Given the description of an element on the screen output the (x, y) to click on. 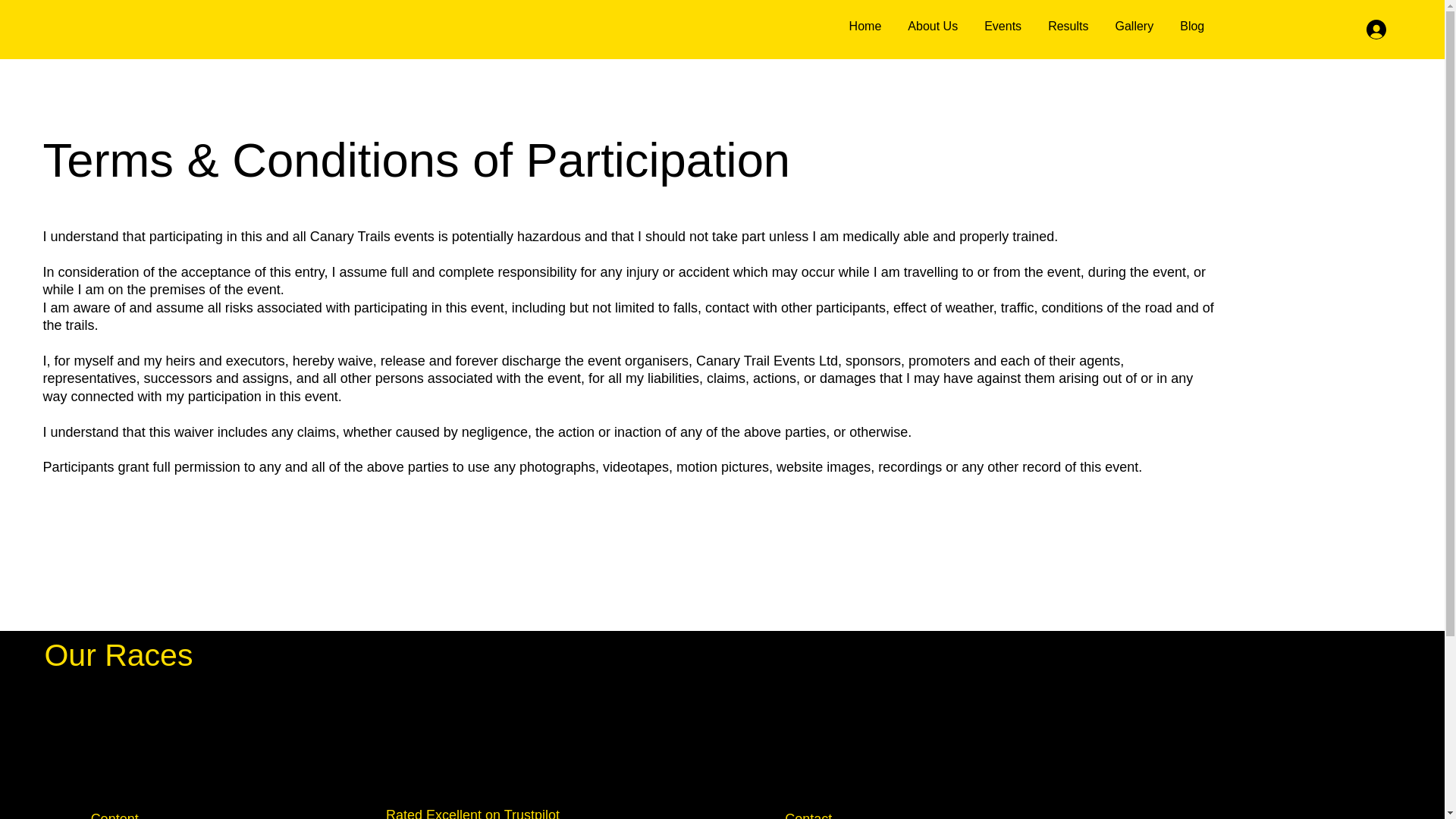
Results (1068, 26)
About Us (1026, 26)
Log In (933, 26)
Blog (1391, 29)
Gallery (1192, 26)
Events (1134, 26)
Home (1003, 26)
